Given the description of an element on the screen output the (x, y) to click on. 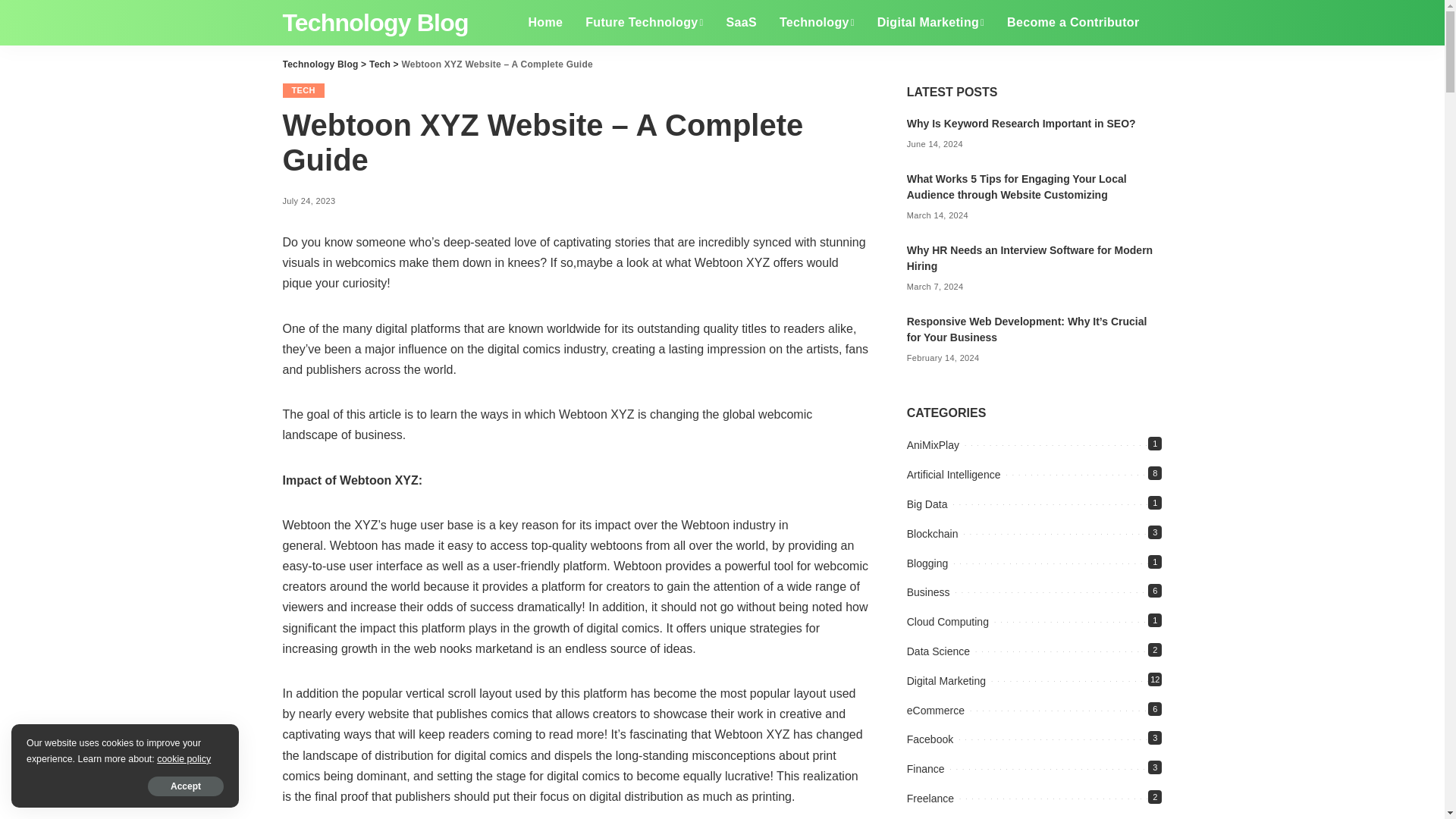
Technology Blog (374, 22)
Go to Technology Blog. (320, 63)
Go to the Tech Category archives. (379, 63)
Technology Blog (374, 22)
